Given the description of an element on the screen output the (x, y) to click on. 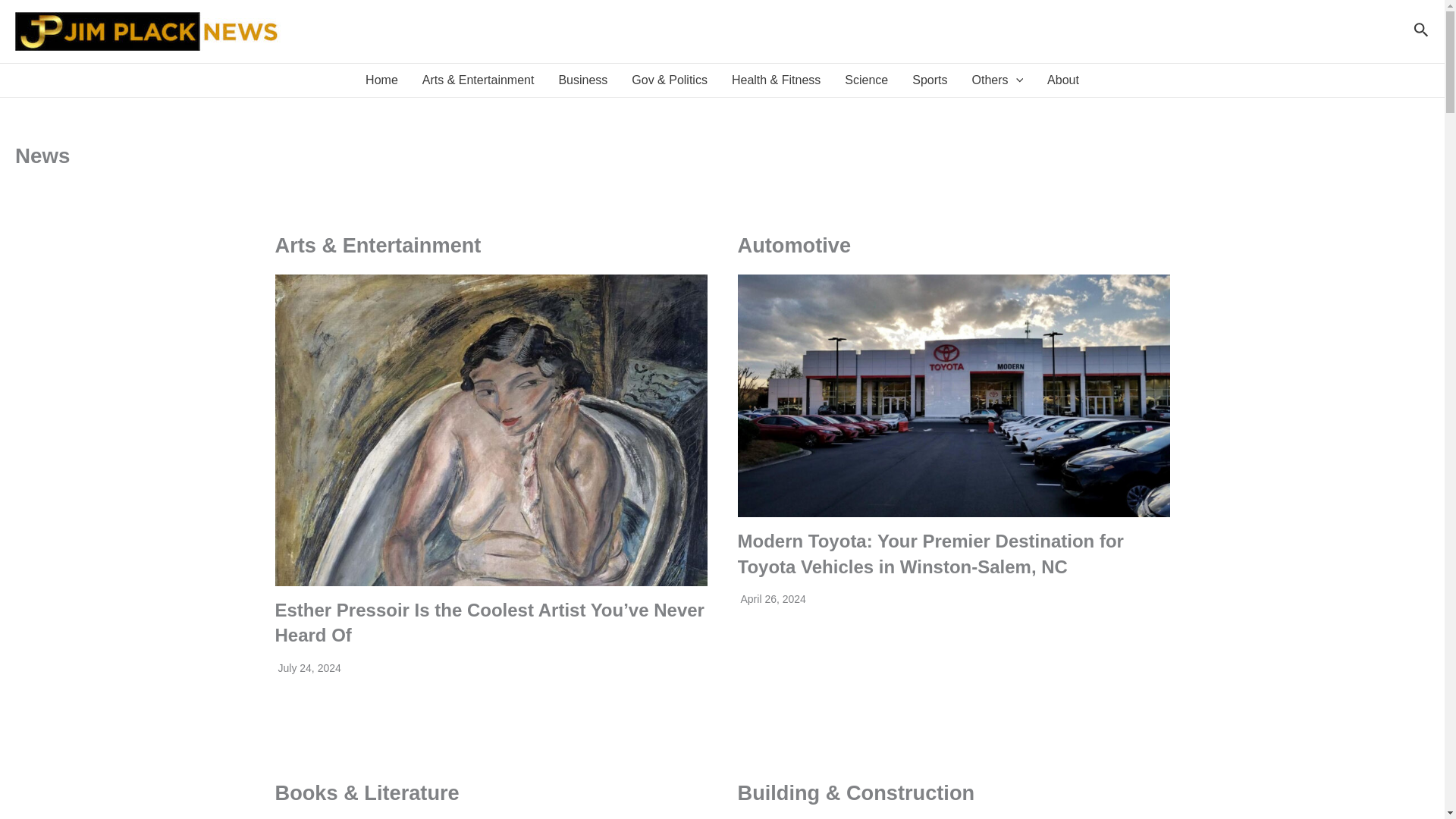
Home (381, 80)
Science (865, 80)
About (1062, 80)
Business (583, 80)
Others (997, 80)
Sports (929, 80)
